Given the description of an element on the screen output the (x, y) to click on. 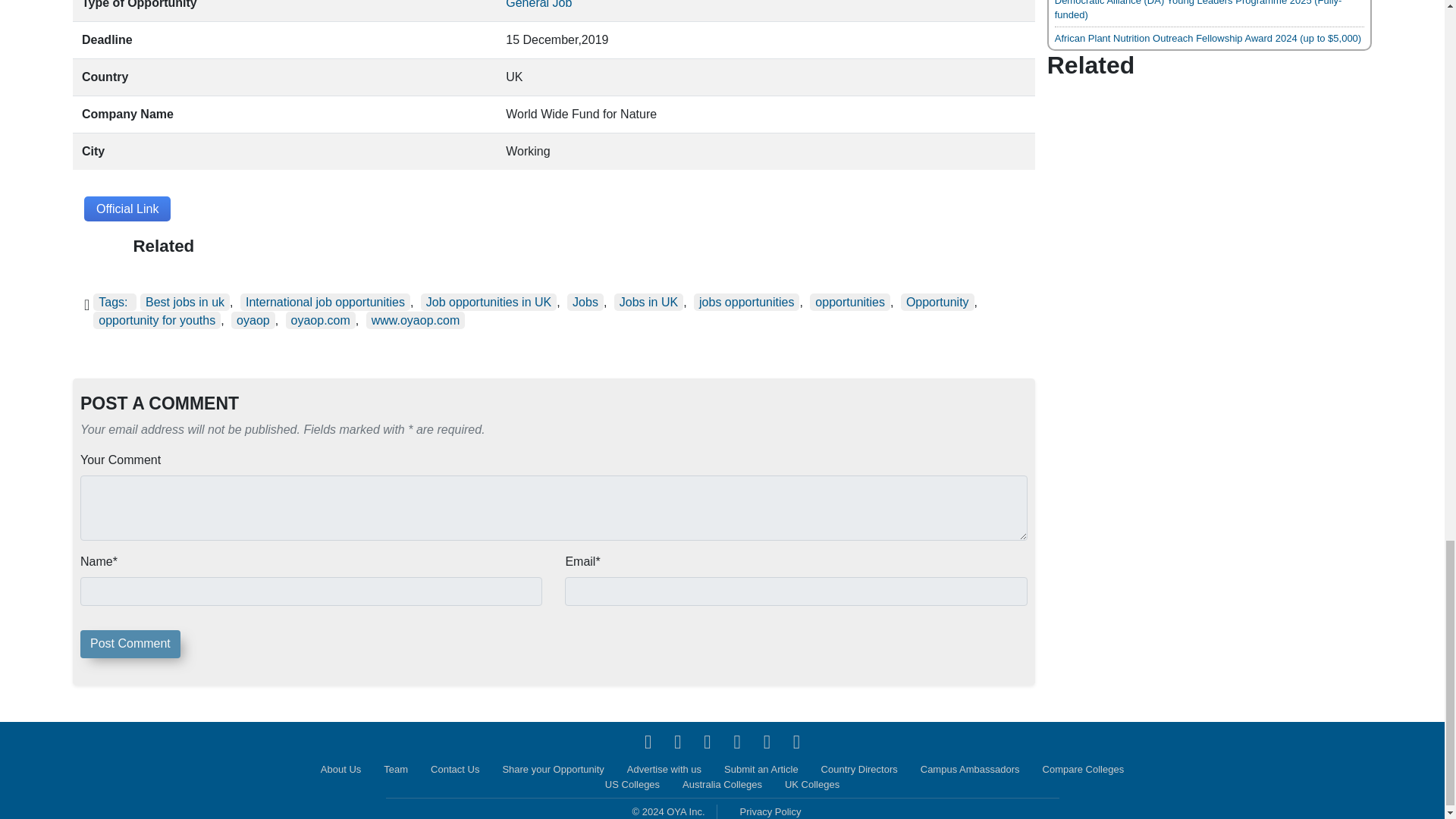
Post Comment (130, 643)
